Given the description of an element on the screen output the (x, y) to click on. 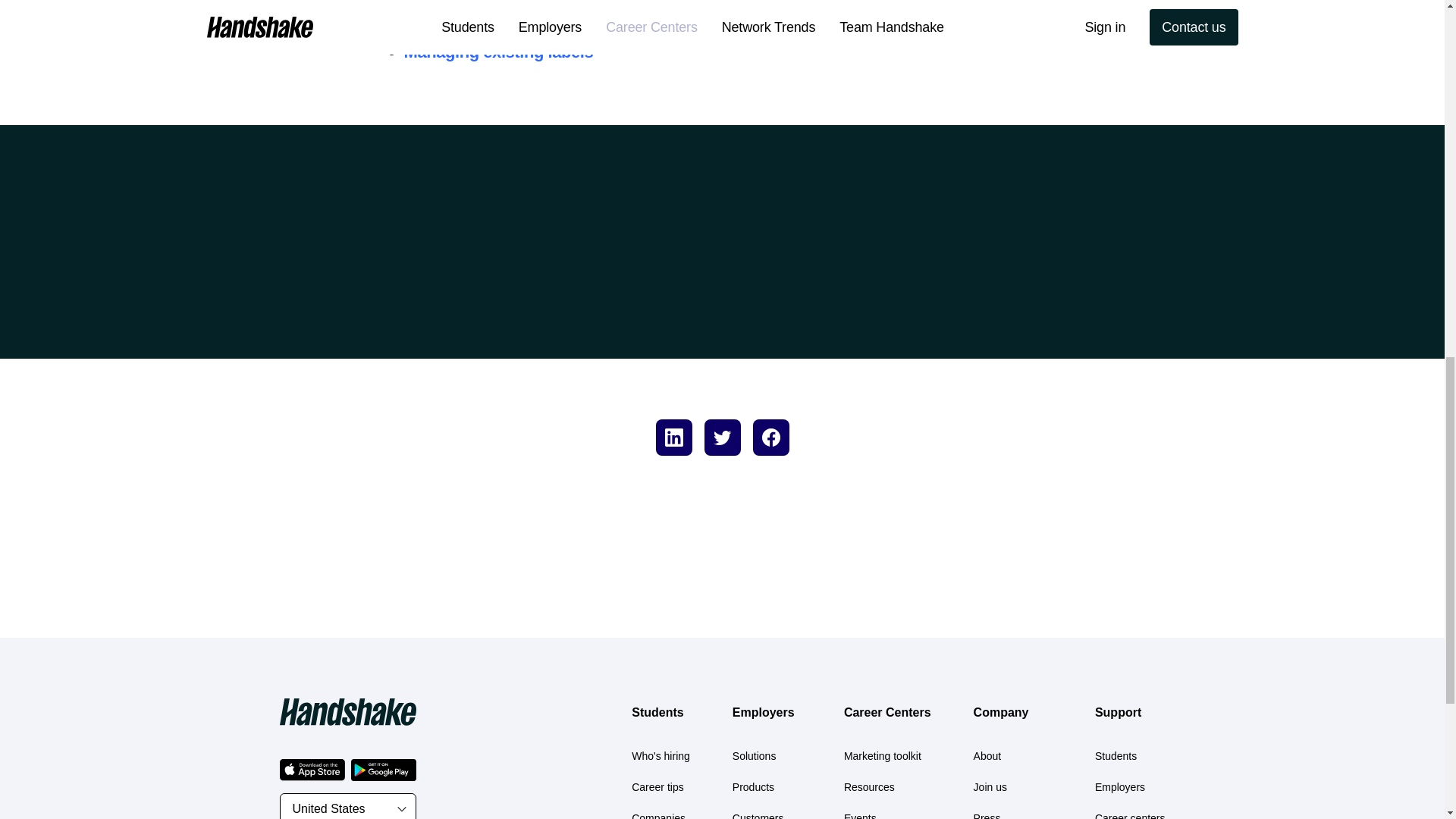
Students (656, 712)
Managing existing labels (497, 51)
Companies (658, 815)
Handshake (346, 711)
Products (753, 787)
Customers (758, 815)
United States (346, 806)
Employers (763, 712)
Who's hiring (660, 756)
Solutions (754, 756)
Download Android app (382, 770)
Download iOS pp (311, 770)
Career tips (656, 787)
